Given the description of an element on the screen output the (x, y) to click on. 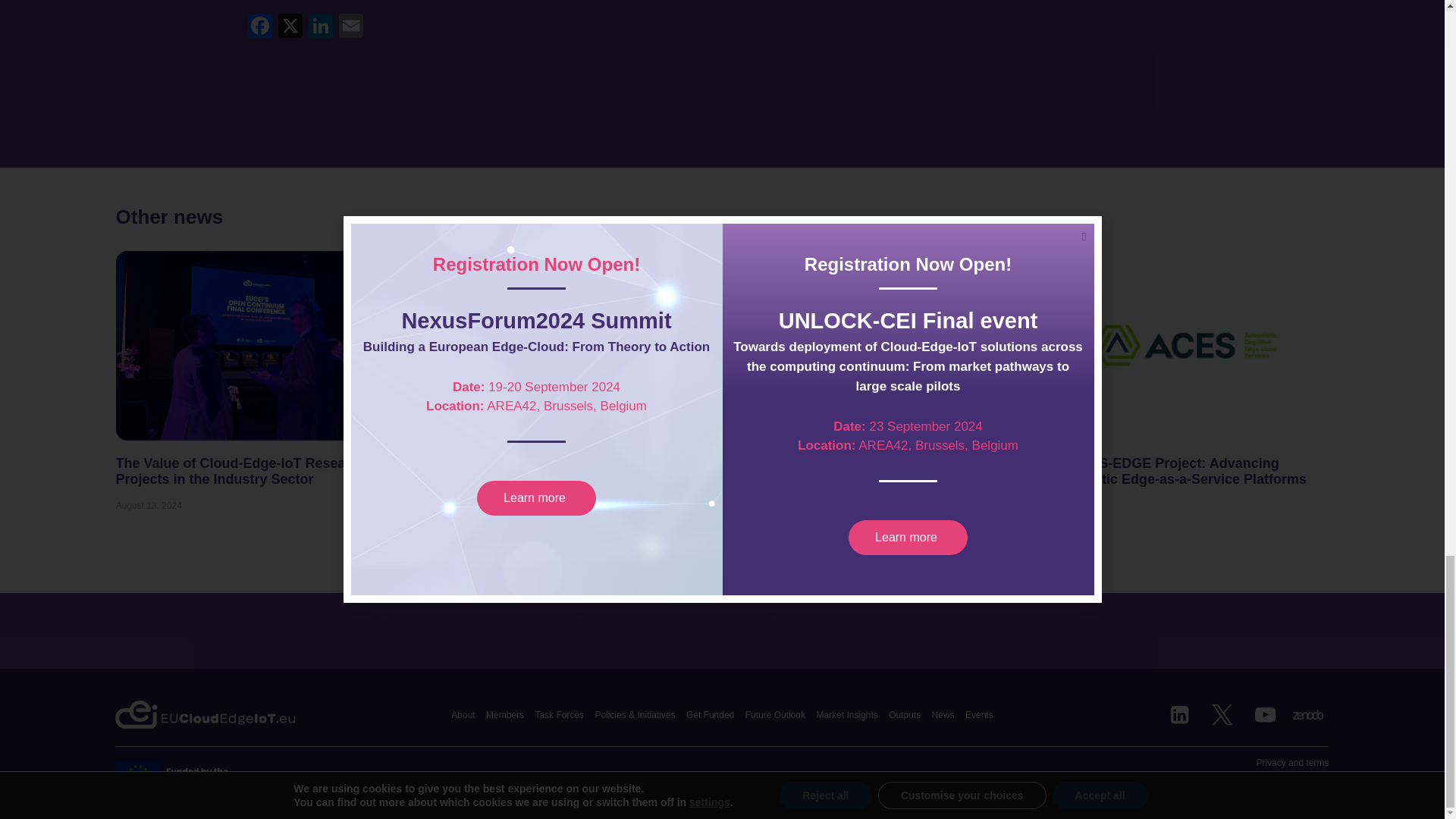
LinkedIn (319, 27)
Email (349, 27)
Facebook (259, 27)
X (289, 27)
